Given the description of an element on the screen output the (x, y) to click on. 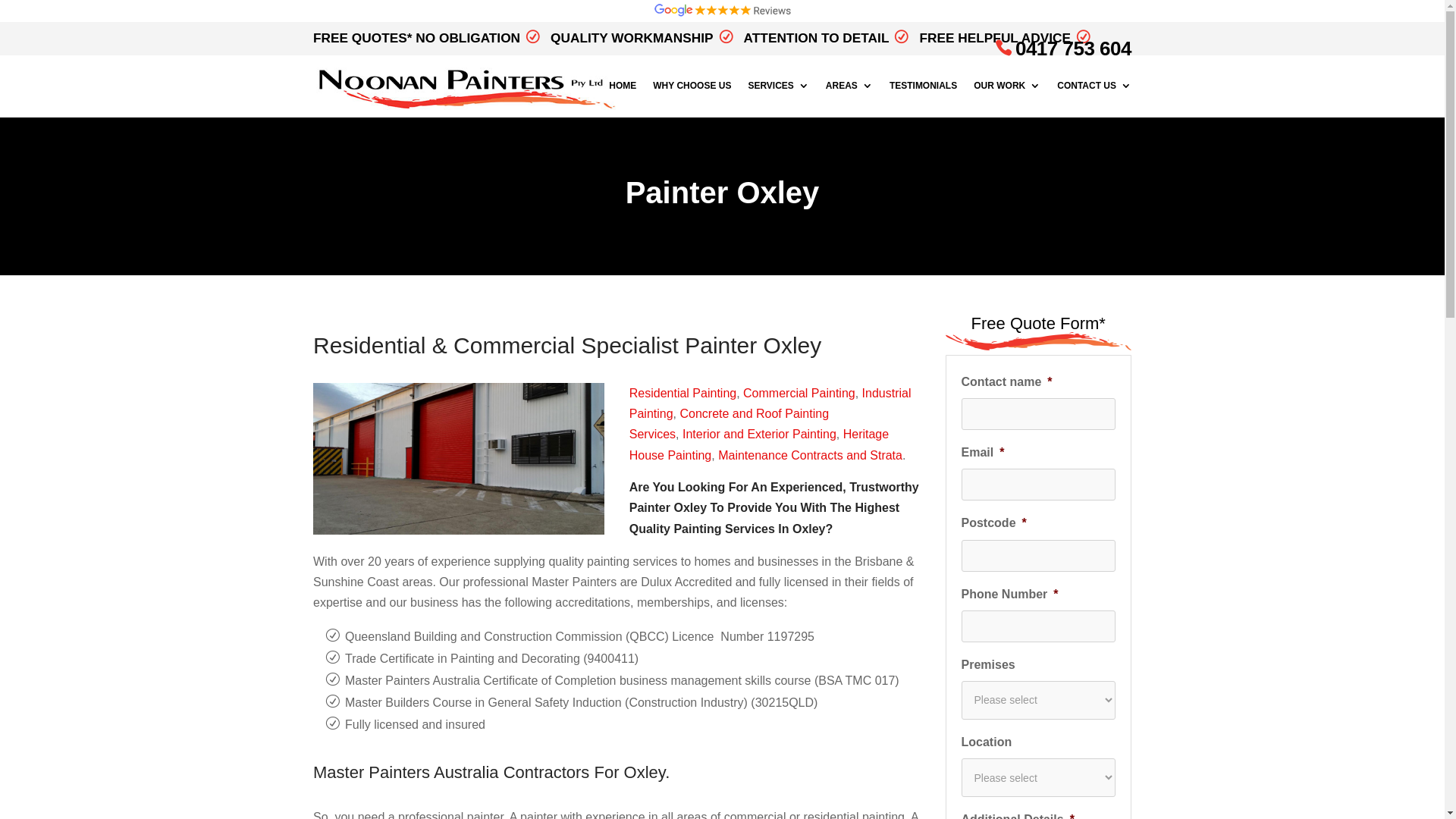
SERVICES Element type: text (777, 98)
CONTACT US Element type: text (1094, 98)
Concrete and Roof Painting Services Element type: text (728, 423)
Industrial Painting Element type: text (770, 403)
0417 753 604 Element type: text (1062, 48)
Interior and Exterior Painting Element type: text (759, 433)
Residential Element type: text (369, 344)
Google Reviews Element type: hover (721, 9)
Residential Painting Element type: text (682, 392)
HOME Element type: text (622, 98)
Commercial Painting Element type: text (799, 392)
AREAS Element type: text (848, 98)
TESTIMONIALS Element type: text (923, 98)
Maintenance Contracts and Strata Element type: text (810, 454)
OUR WORK Element type: text (1006, 98)
WHY CHOOSE US Element type: text (691, 98)
Commercial Element type: text (513, 344)
Heritage House Painting Element type: text (758, 444)
